Given the description of an element on the screen output the (x, y) to click on. 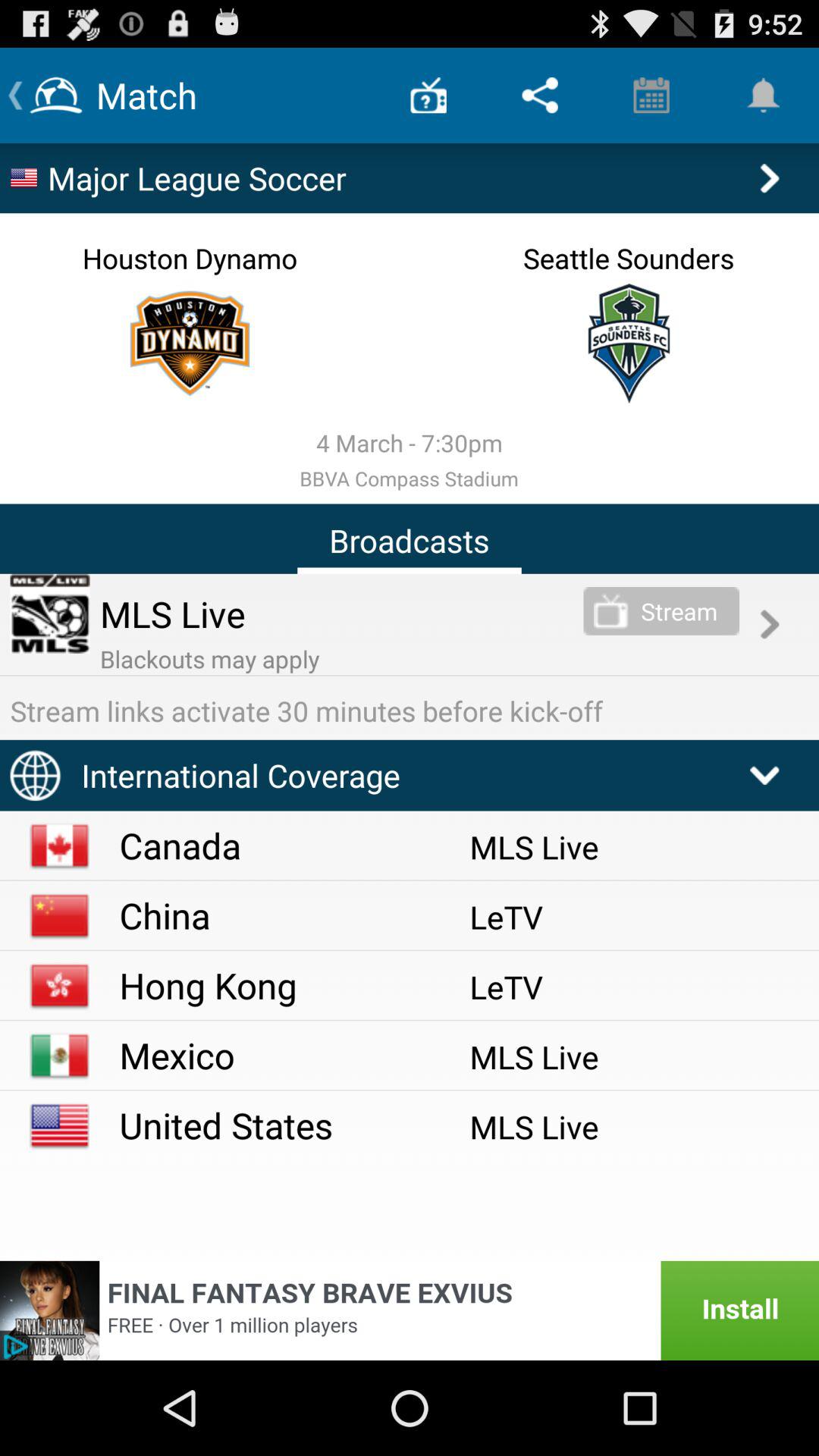
select specific team (189, 343)
